Given the description of an element on the screen output the (x, y) to click on. 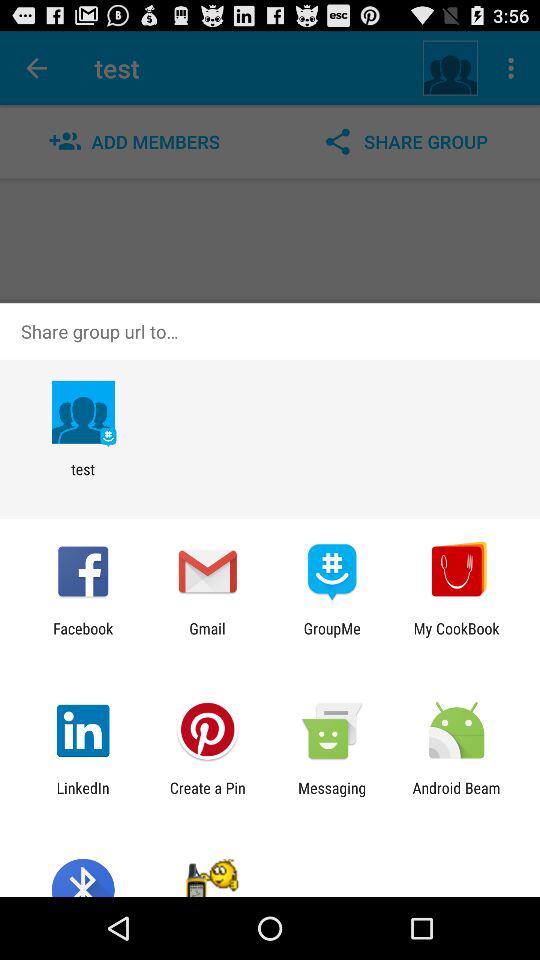
open the item to the right of create a pin app (332, 796)
